Given the description of an element on the screen output the (x, y) to click on. 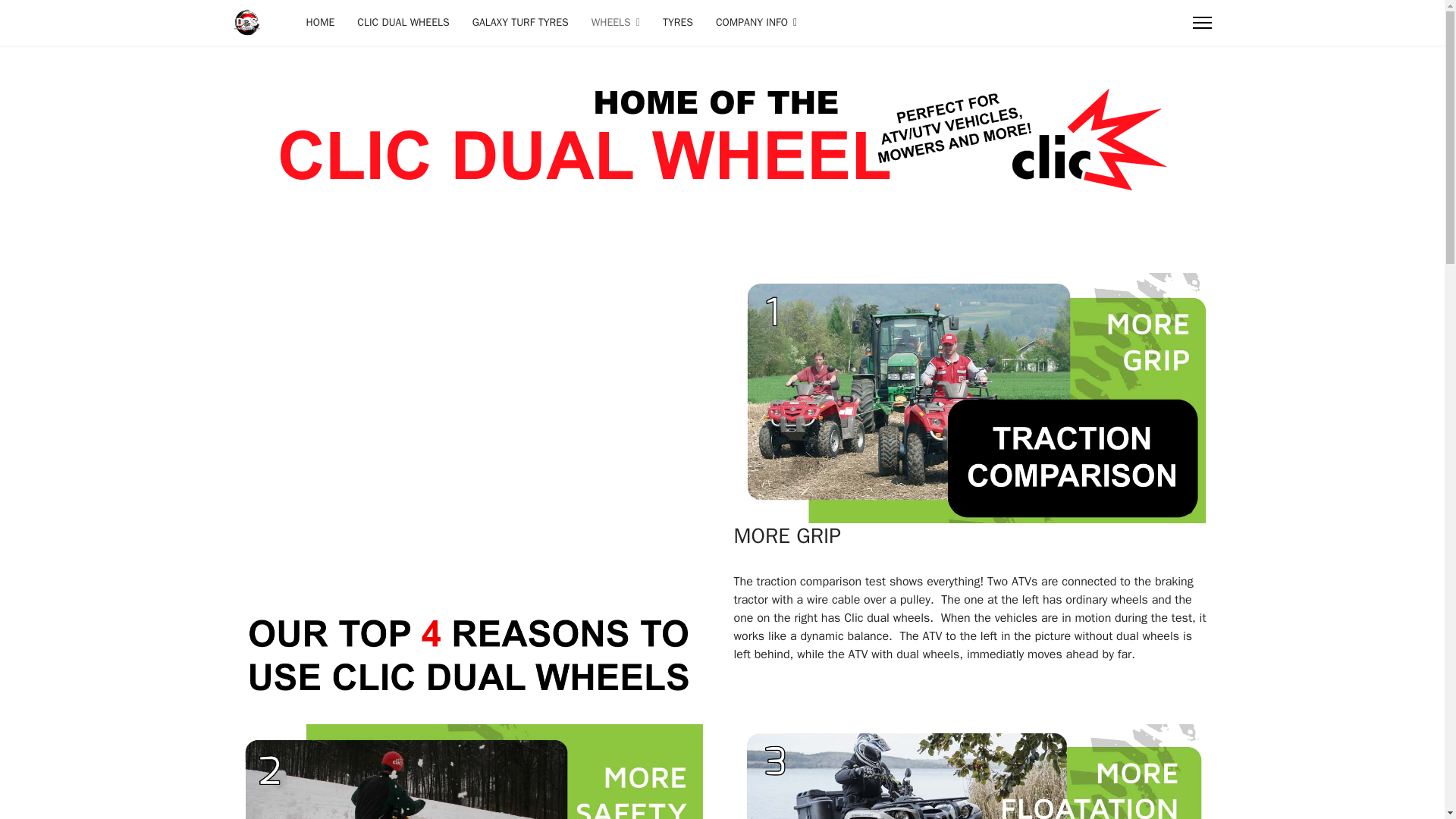
WHEELS (614, 22)
HOME (320, 22)
CLIC DUAL WHEELS (403, 22)
GALAXY TURF TYRES (520, 22)
TYRES (677, 22)
